Given the description of an element on the screen output the (x, y) to click on. 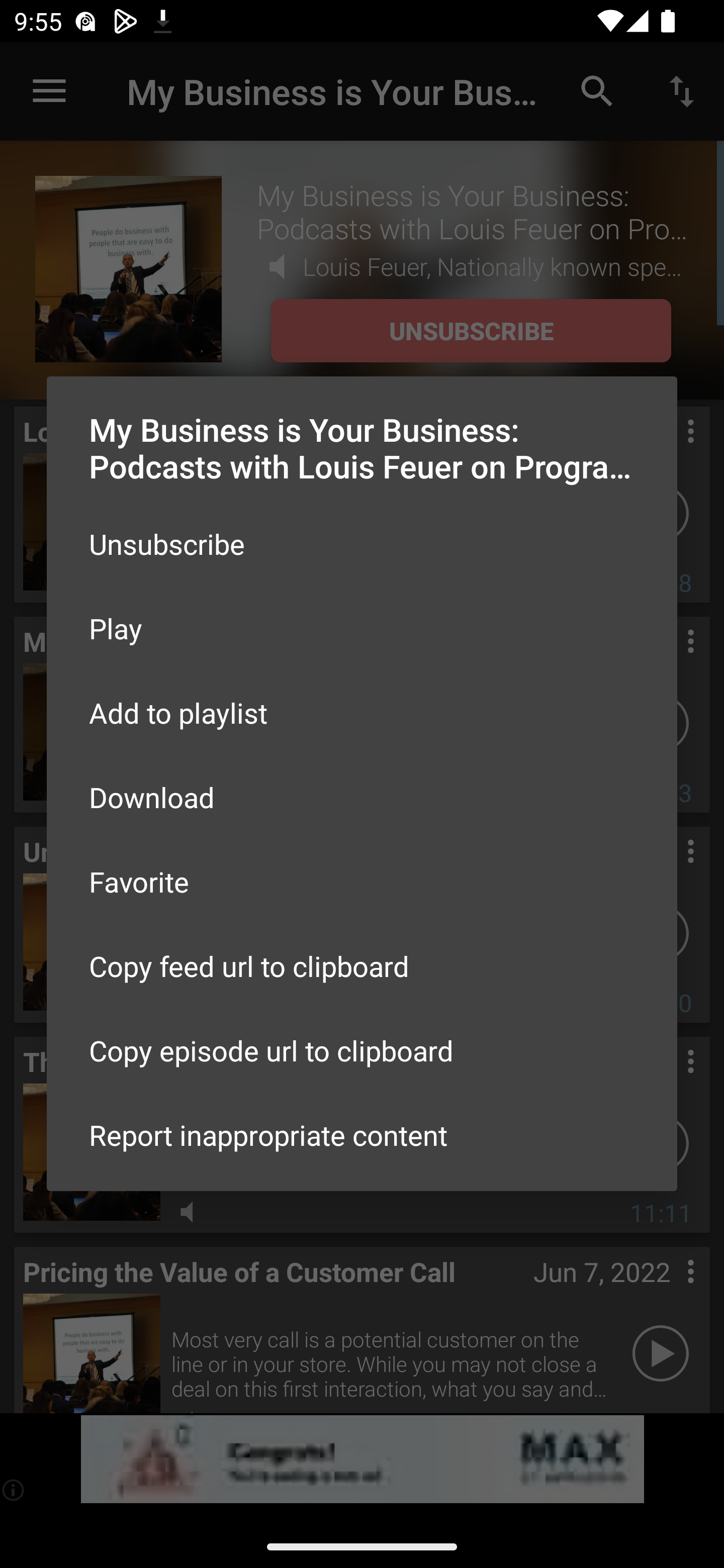
Unsubscribe (361, 543)
Play (361, 628)
Add to playlist (361, 712)
Download (361, 796)
Favorite (361, 880)
Copy feed url to clipboard (361, 965)
Copy episode url to clipboard (361, 1050)
Report inappropriate content (361, 1134)
